Given the description of an element on the screen output the (x, y) to click on. 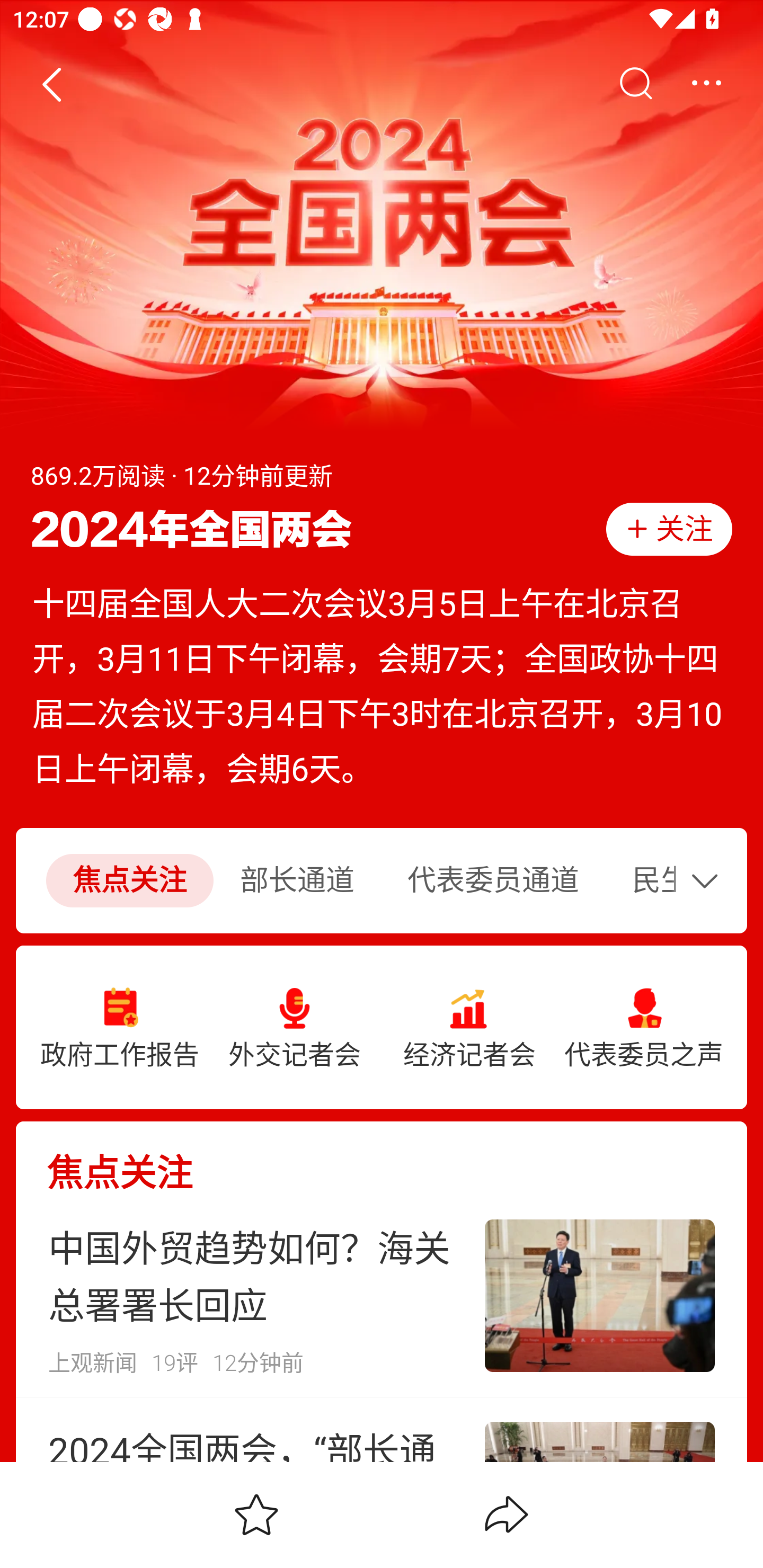
 (50, 83)
 (634, 83)
 (705, 83)
 关注 (668, 529)
焦点关注 (129, 880)
部长通道 (296, 880)
代表委员通道 (492, 880)
 (708, 880)
政府工作报告 (119, 1027)
外交记者会 (294, 1027)
经济记者会 (469, 1027)
代表委员之声 (643, 1027)
焦点关注 (381, 1157)
中国外贸趋势如何？海关总署署长回应 上观新闻 19评 12分钟前 (381, 1295)
收藏  (255, 1514)
分享  (506, 1514)
